Given the description of an element on the screen output the (x, y) to click on. 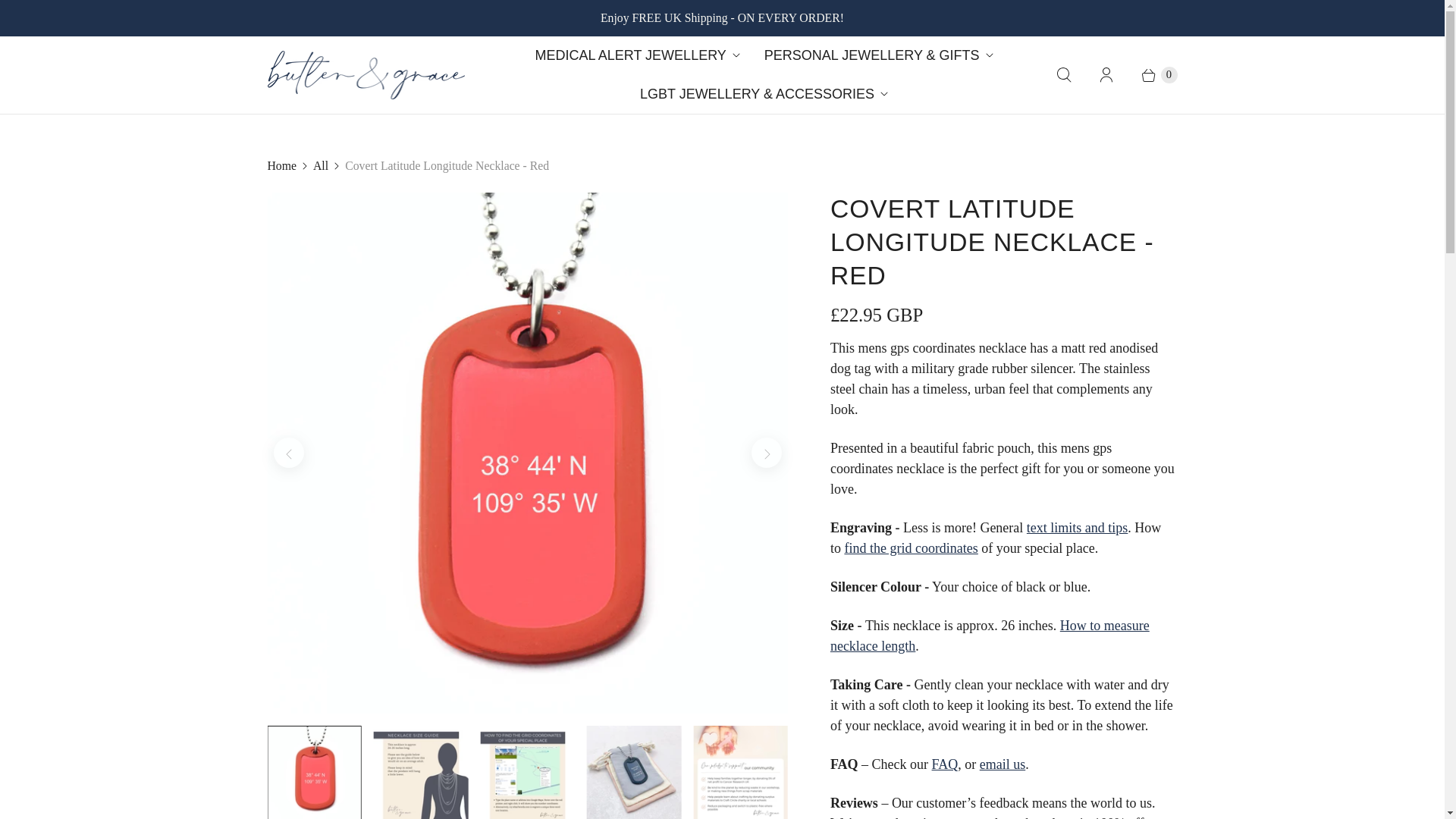
How to find longitude latitude coordinates (910, 548)
Size guidance for necklaces (989, 635)
ask a question (1002, 764)
Text Engraving Limits (1077, 527)
Longitude Latitude Jewellery FAQs (944, 764)
